Given the description of an element on the screen output the (x, y) to click on. 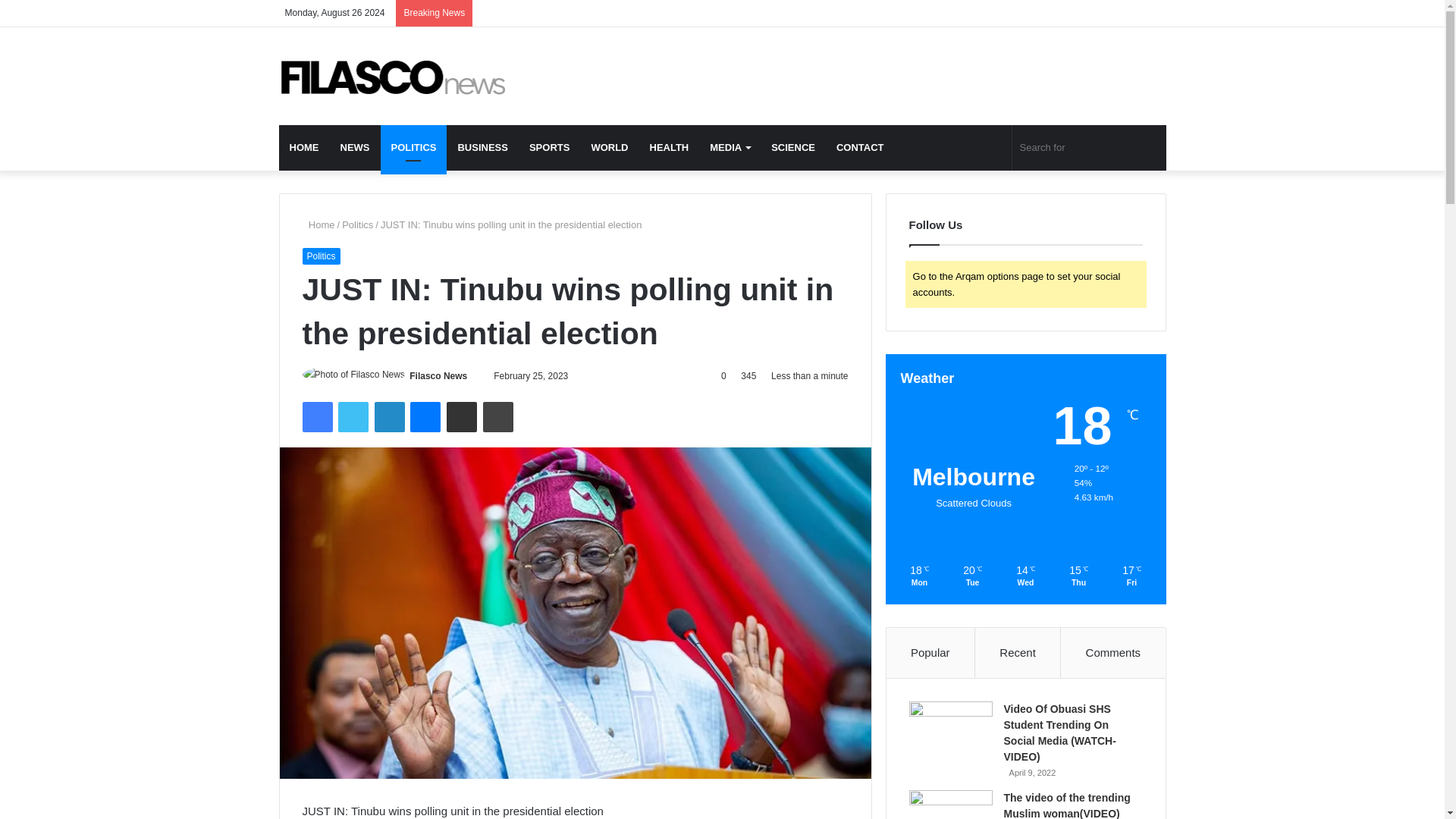
Facebook (316, 417)
Politics (320, 256)
Filasco News (438, 376)
NEWS (354, 147)
POLITICS (413, 147)
CONTACT (860, 147)
Home (317, 224)
Filasco News (392, 76)
SPORTS (548, 147)
LinkedIn (389, 417)
